Given the description of an element on the screen output the (x, y) to click on. 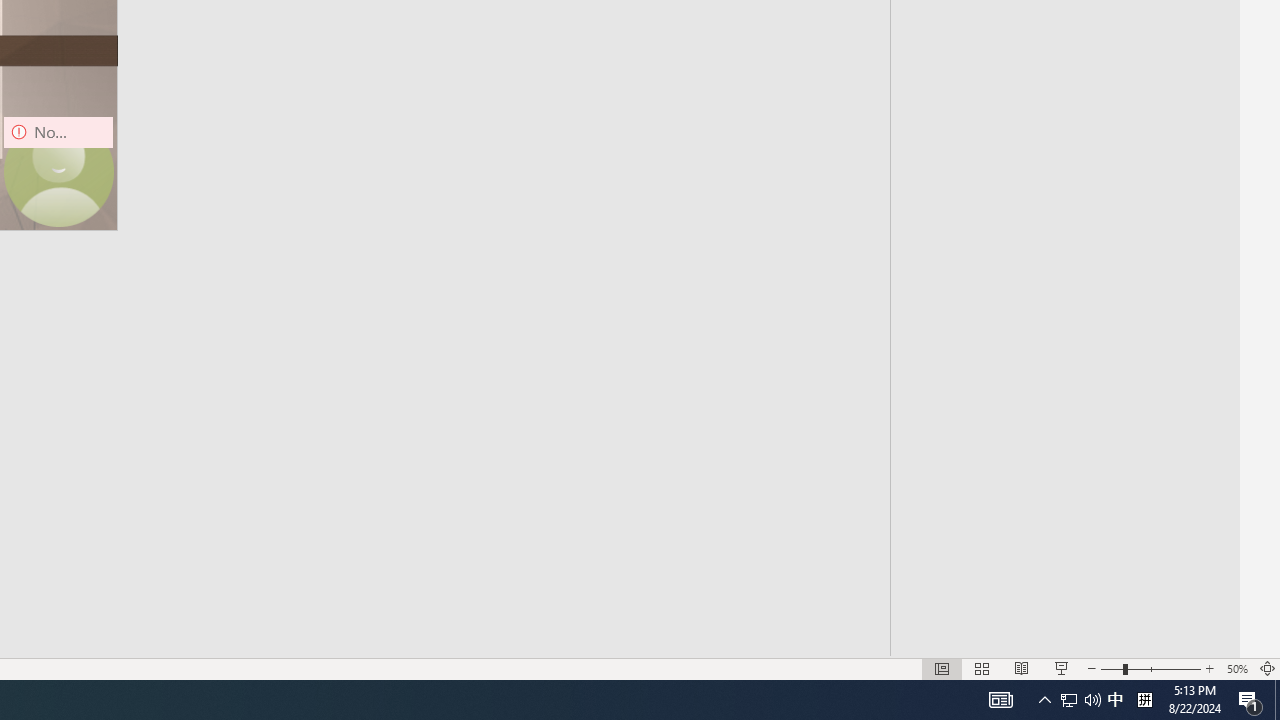
Camera 9, No camera detected. (58, 171)
Zoom 50% (1236, 668)
